Given the description of an element on the screen output the (x, y) to click on. 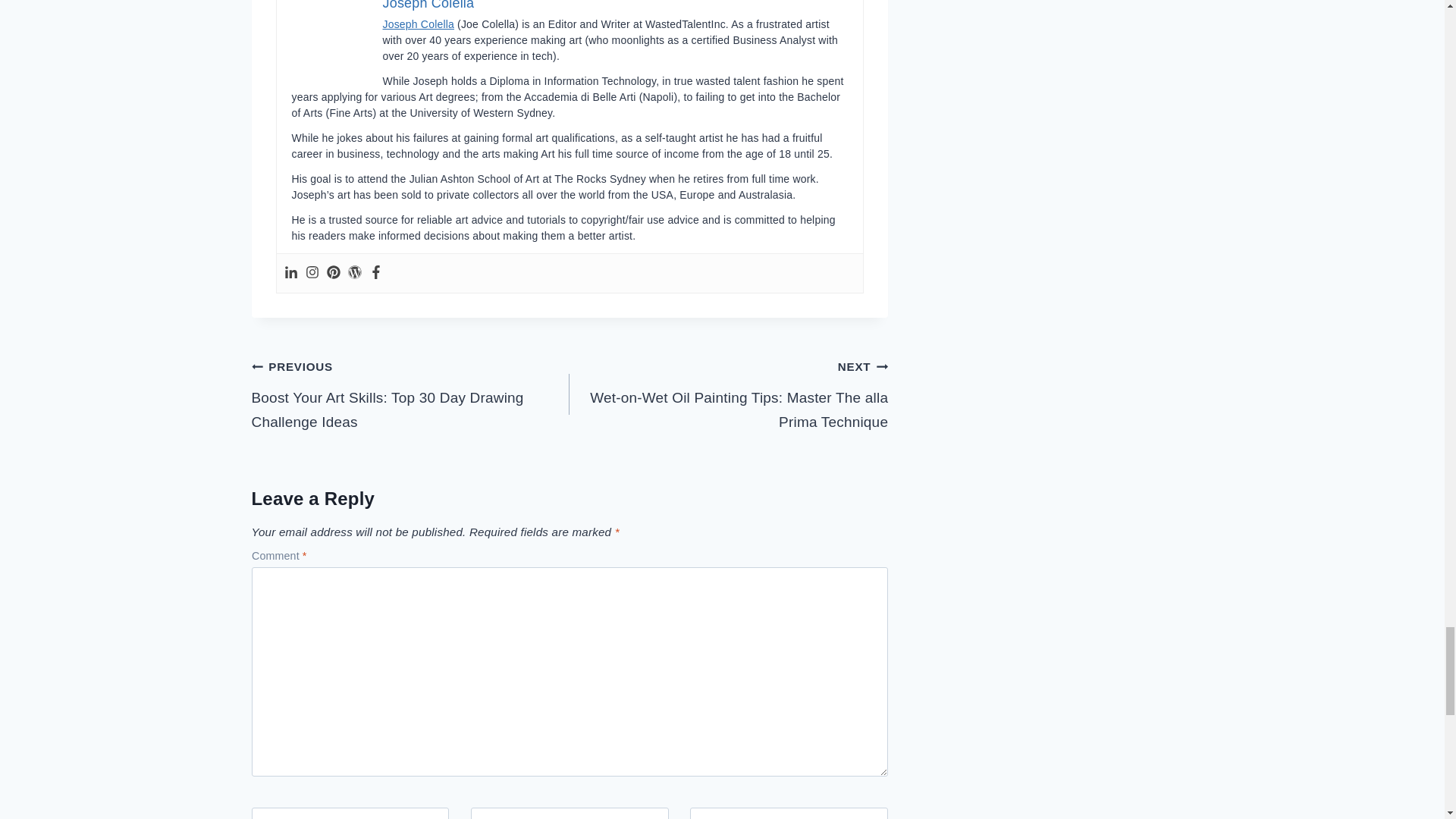
Joseph Colella (417, 24)
Joseph Colella (427, 5)
